Given the description of an element on the screen output the (x, y) to click on. 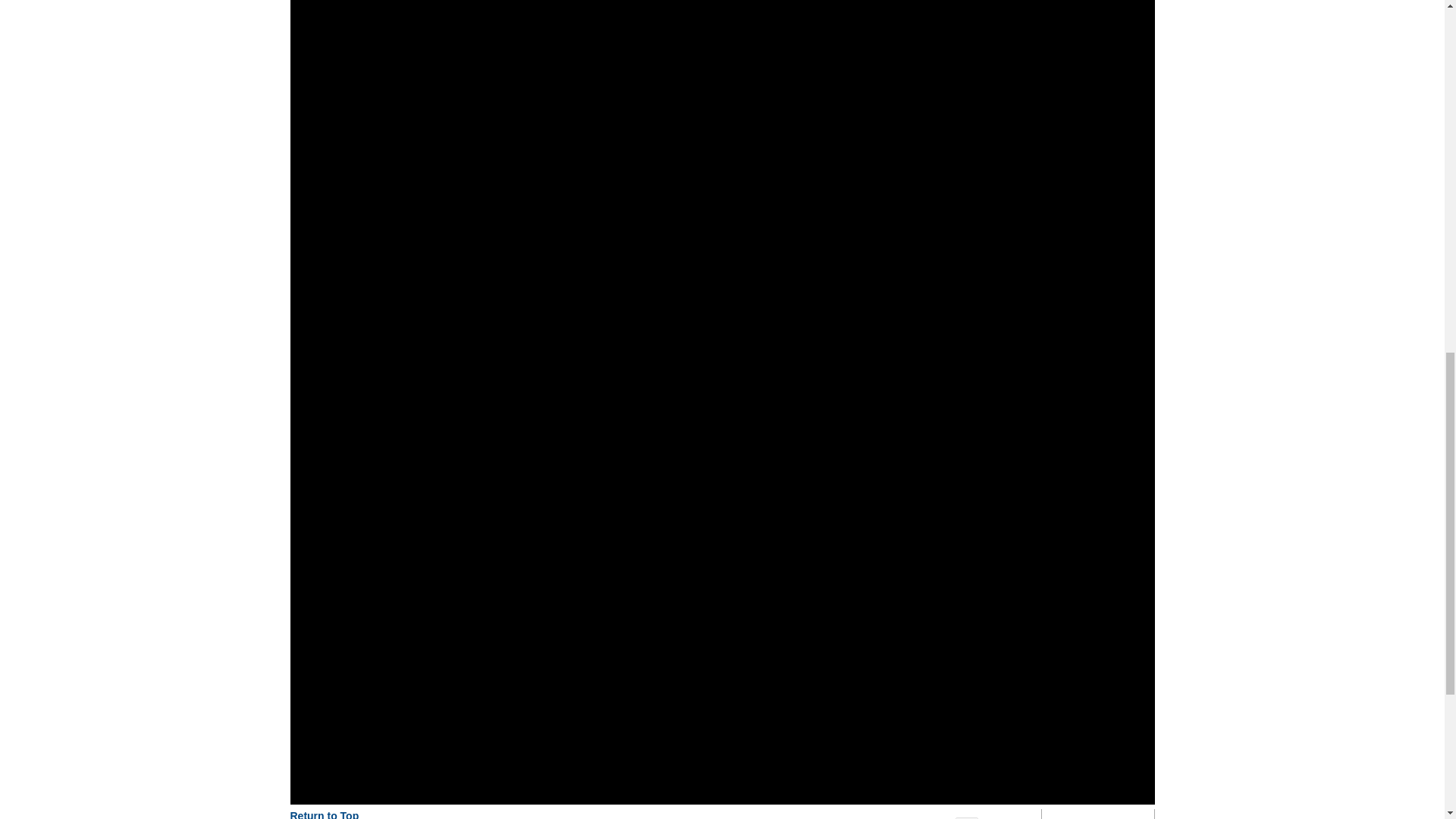
Return to Top (323, 814)
